Given the description of an element on the screen output the (x, y) to click on. 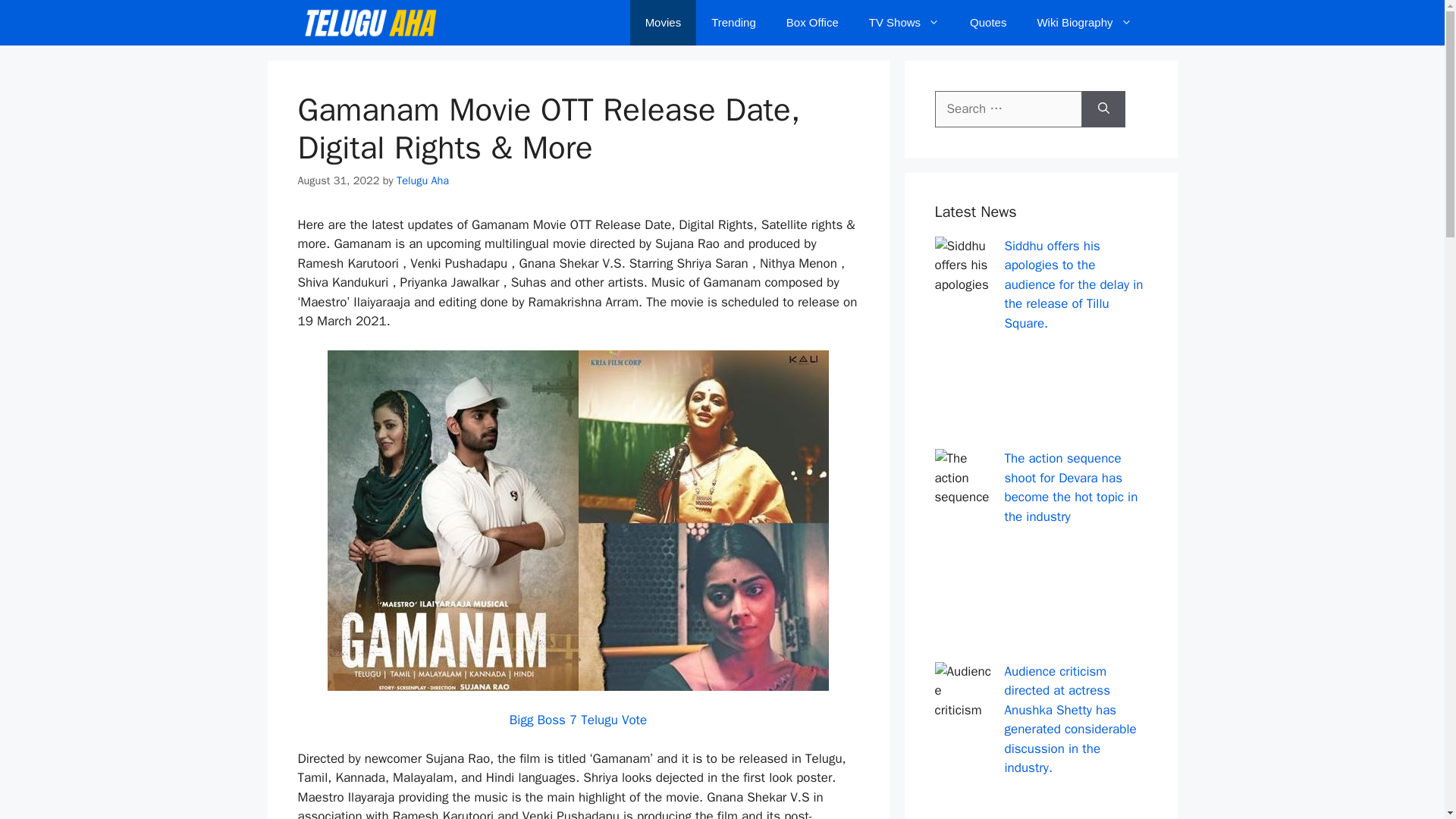
Box Office (812, 22)
TeluguAha (369, 22)
Trending (733, 22)
Search for: (1007, 108)
TV Shows (904, 22)
View all posts by Telugu Aha (422, 180)
Bigg Boss 7 Telugu Vote (577, 719)
Wiki Biography (1084, 22)
Quotes (988, 22)
Movies (663, 22)
Telugu Aha (422, 180)
